Given the description of an element on the screen output the (x, y) to click on. 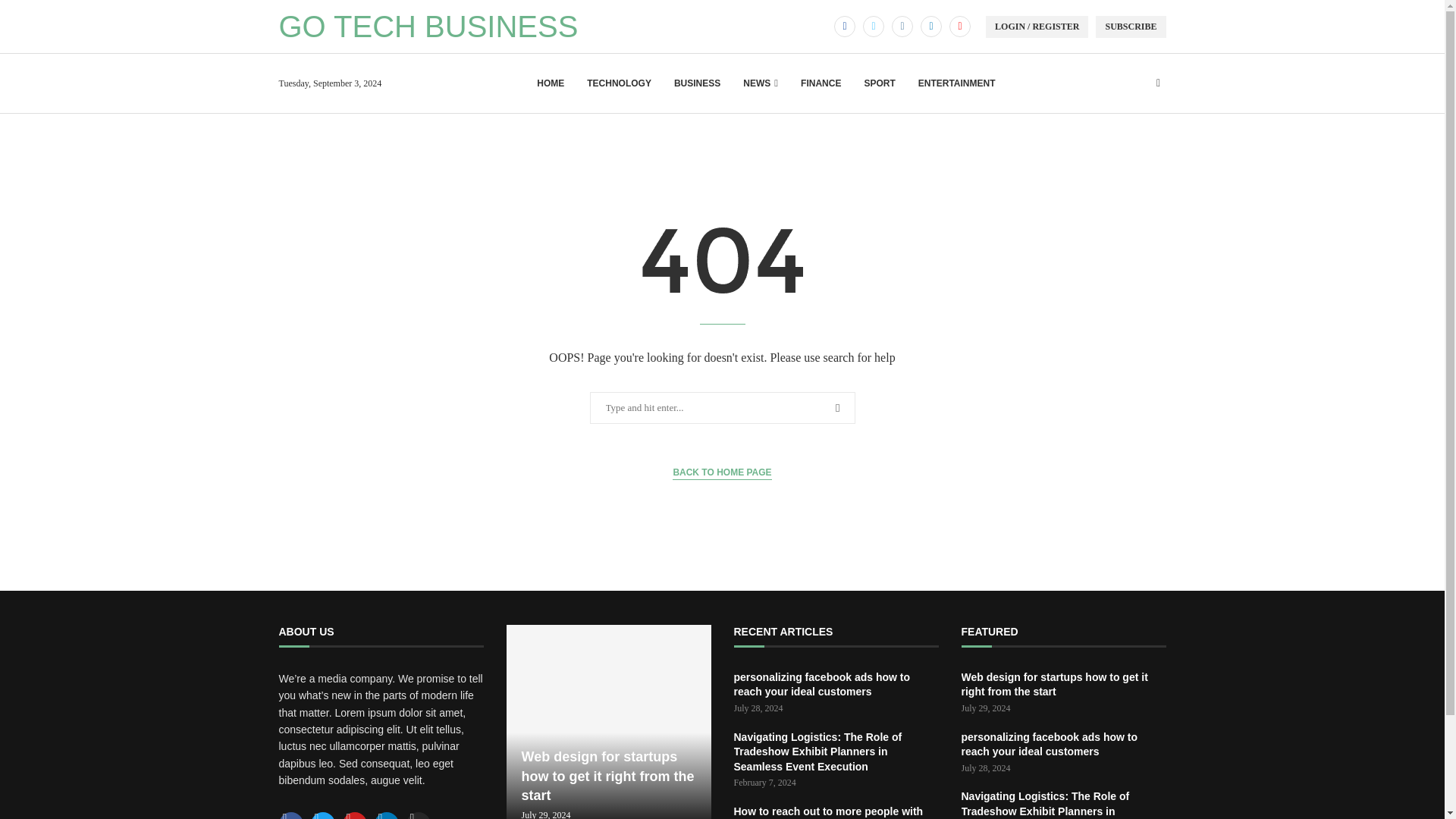
TECHNOLOGY (618, 83)
Web design for startups how to get it right from the start (608, 721)
BUSINESS (697, 83)
SUBSCRIBE (1131, 25)
FINANCE (820, 83)
GO TECH BUSINESS (428, 26)
Web design for startups how to get it right from the start (608, 775)
ENTERTAINMENT (956, 83)
